Given the description of an element on the screen output the (x, y) to click on. 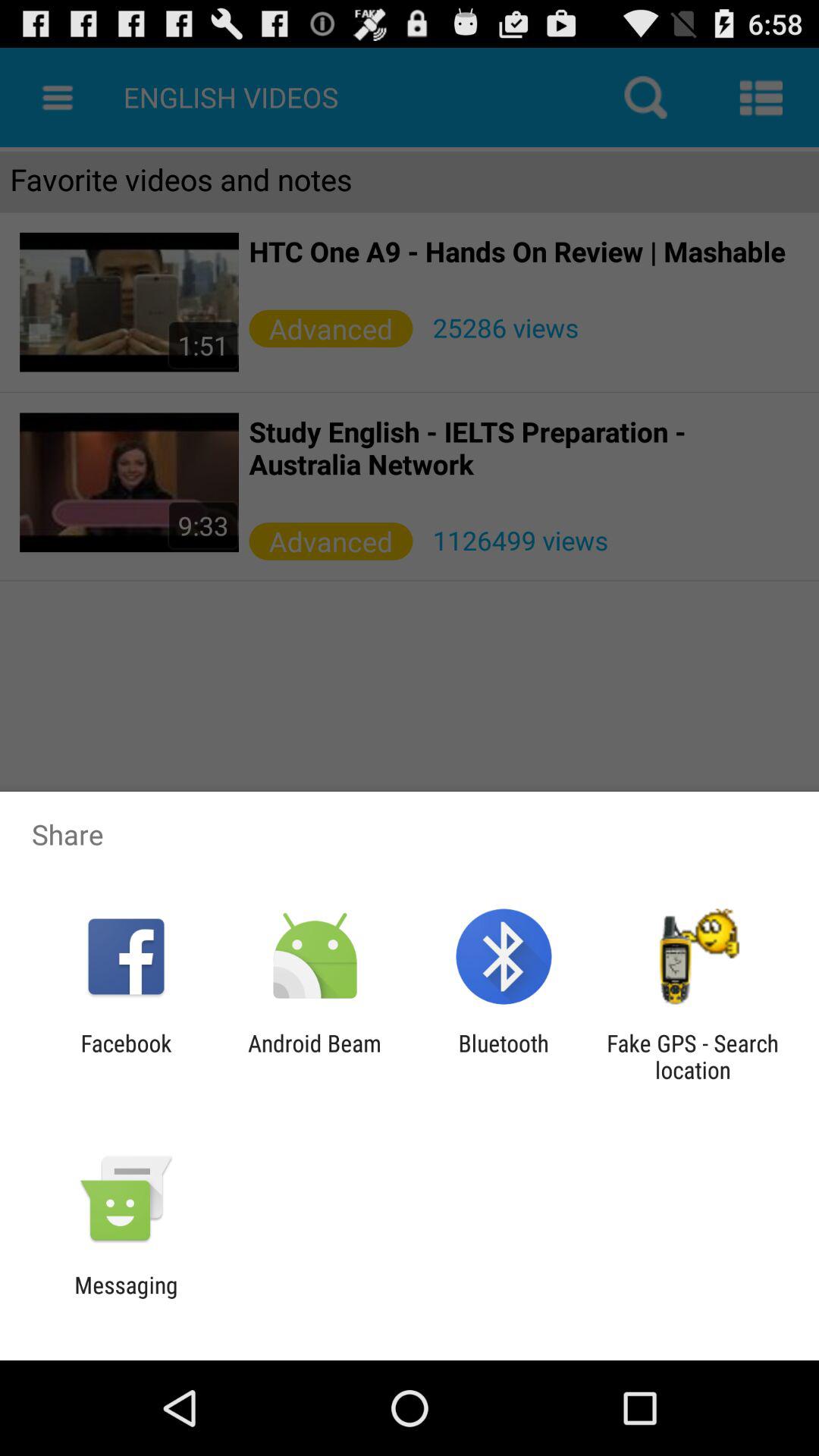
open bluetooth app (503, 1056)
